Given the description of an element on the screen output the (x, y) to click on. 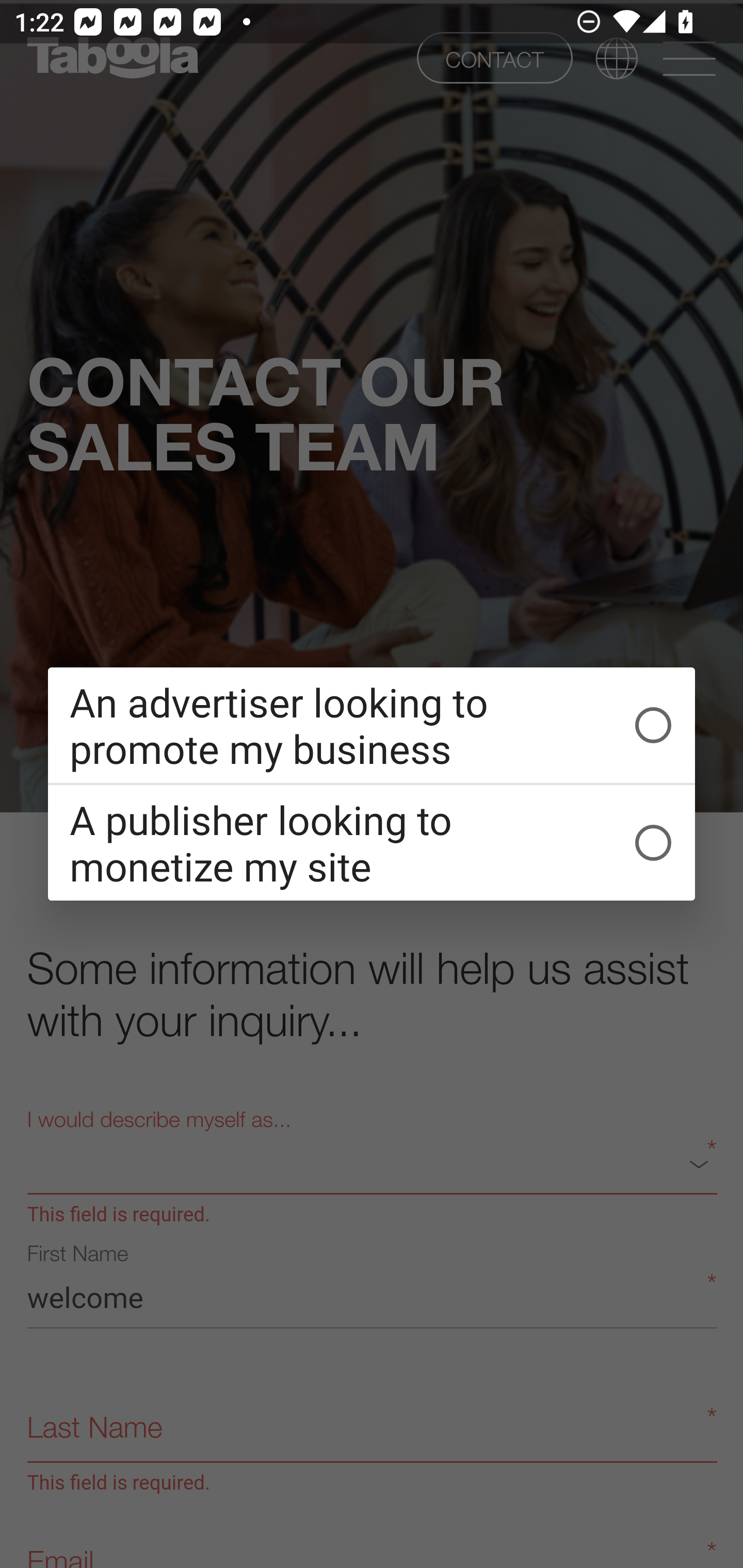
An advertiser looking to promote my business (371, 724)
A publisher looking to monetize my site (371, 842)
